Given the description of an element on the screen output the (x, y) to click on. 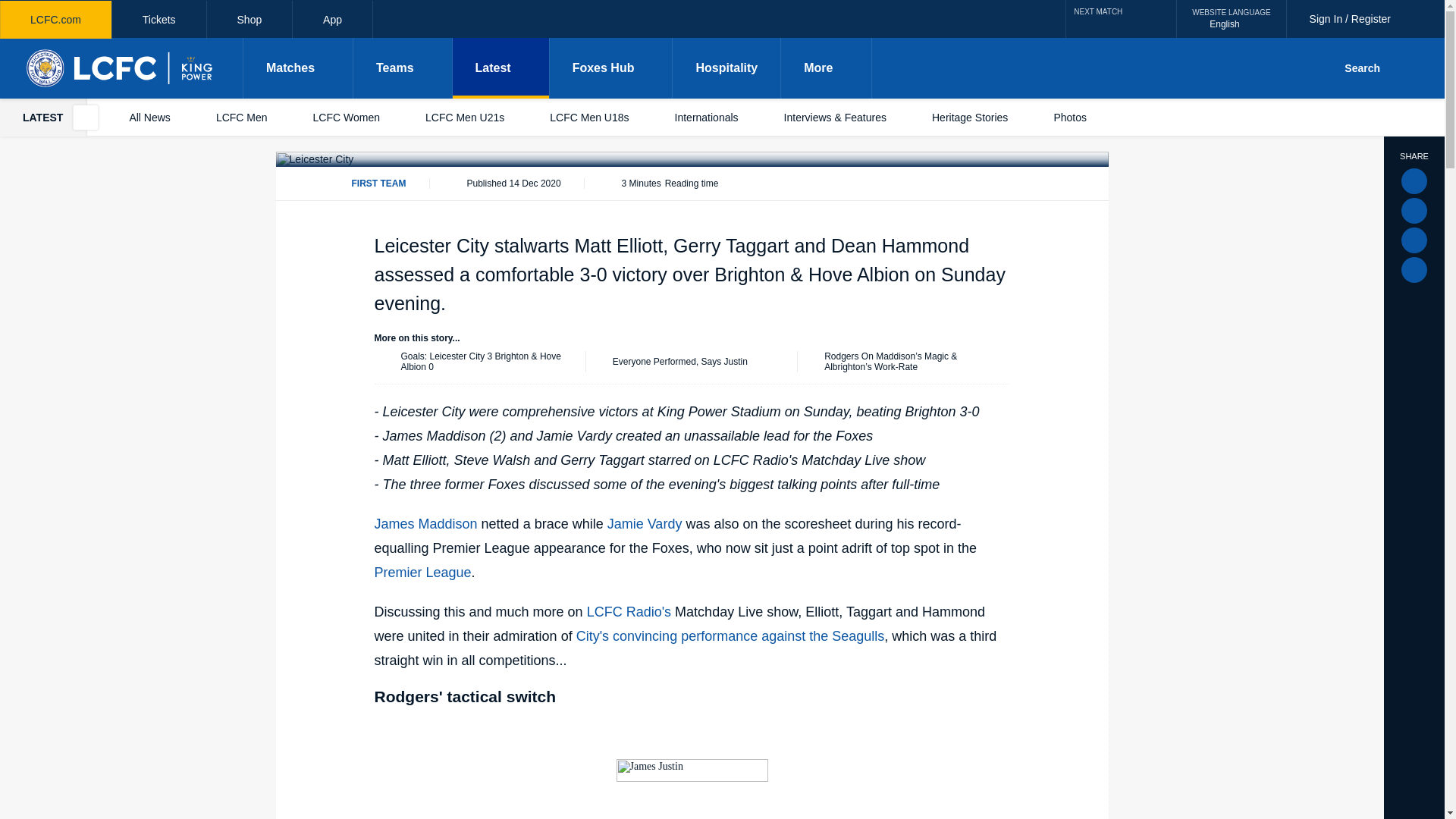
LCFC.com (56, 19)
NEXT MATCH (1230, 18)
Shop (1120, 18)
Tickets (249, 19)
Home (159, 19)
App (121, 67)
Hospitality (332, 19)
